Given the description of an element on the screen output the (x, y) to click on. 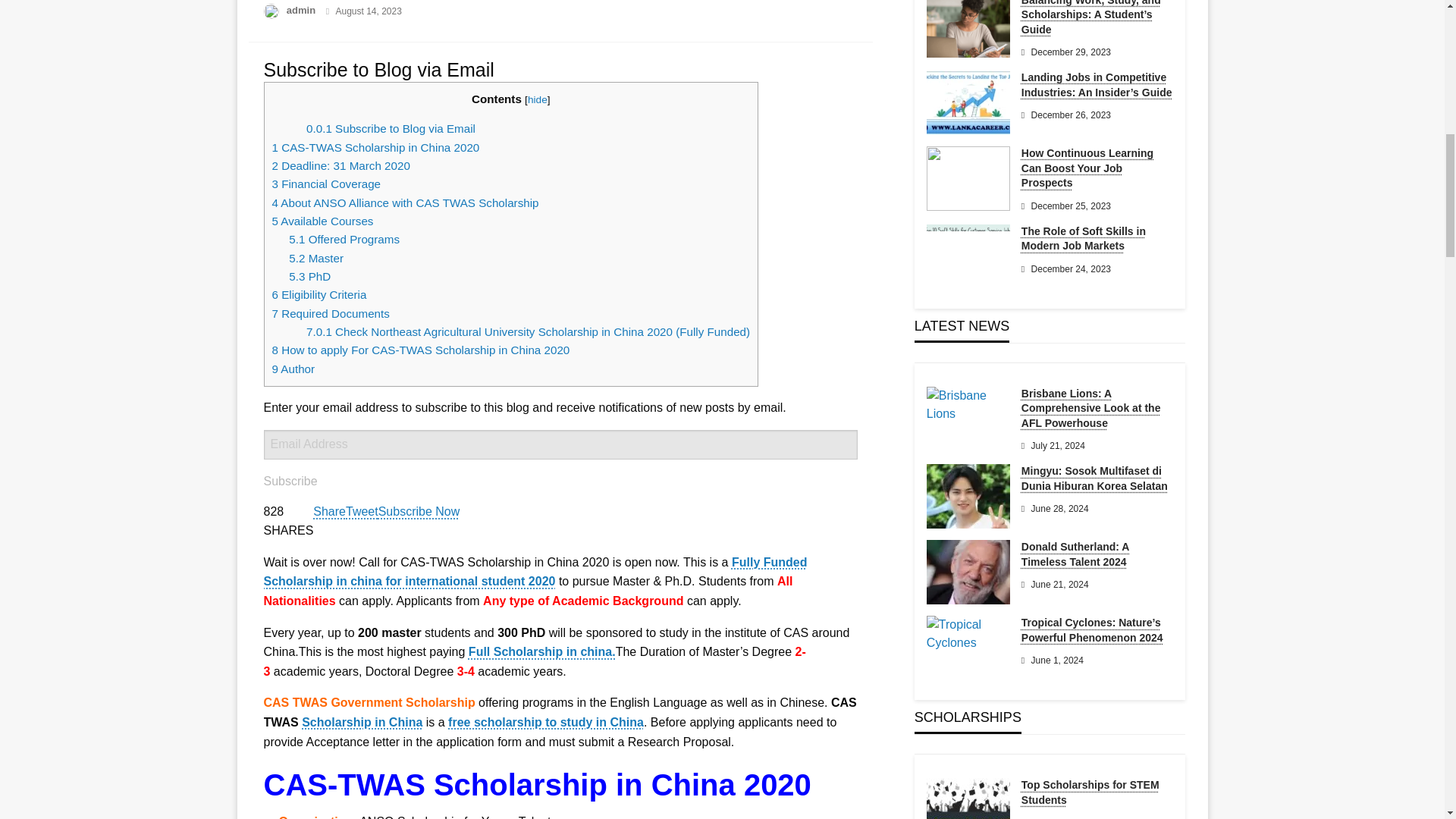
3 Financial Coverage (325, 183)
1 CAS-TWAS Scholarship in China 2020 (374, 146)
0.0.1 Subscribe to Blog via Email (390, 128)
August 14, 2023 (367, 10)
2 Deadline: 31 March 2020 (339, 164)
admin (302, 9)
5 Available Courses  (322, 220)
hide (537, 99)
4 About ANSO Alliance with CAS TWAS Scholarship (404, 202)
admin (302, 9)
